Given the description of an element on the screen output the (x, y) to click on. 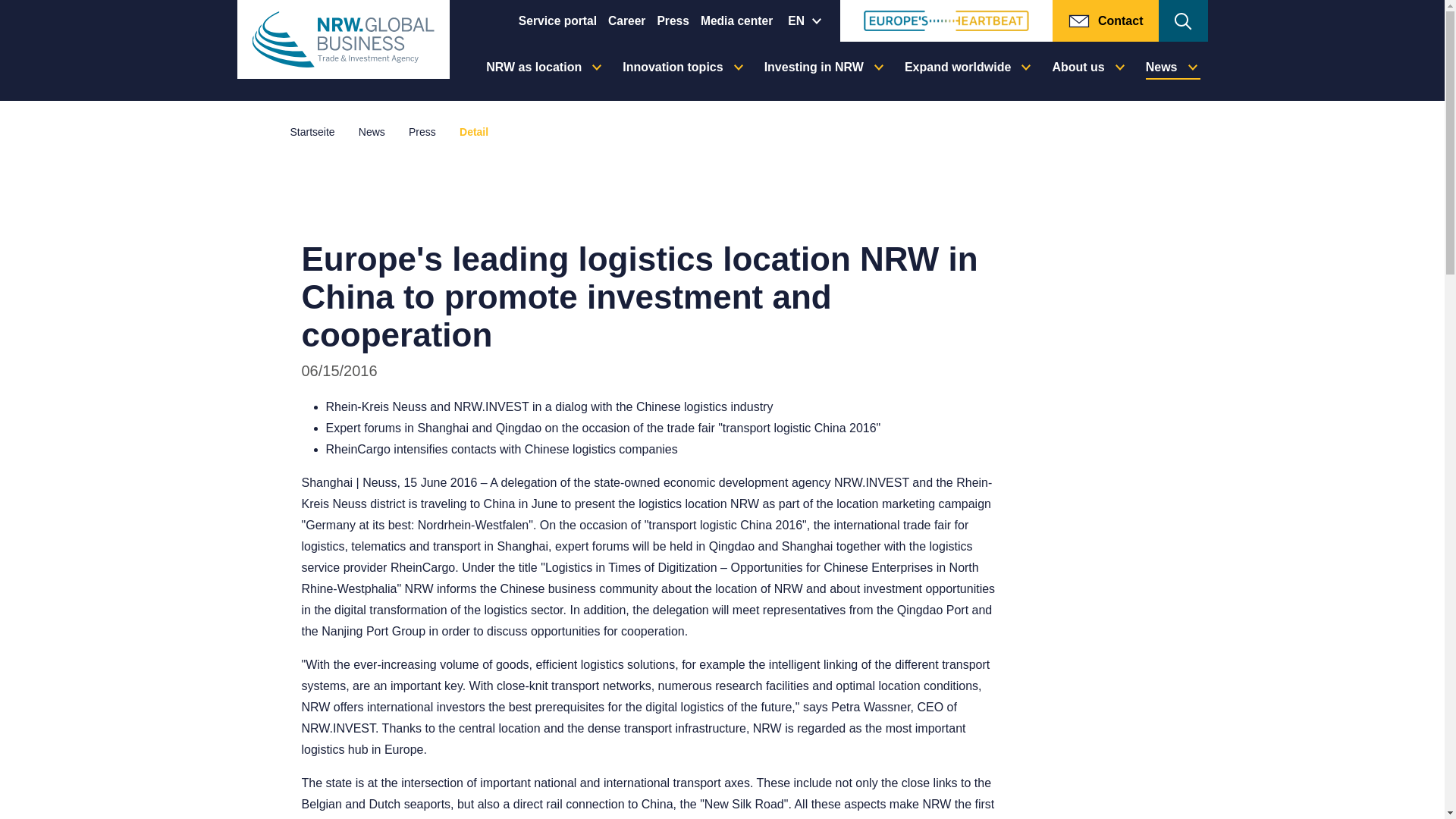
NRW as location (543, 70)
Media center (736, 20)
News (371, 132)
Career (626, 20)
Startseite (311, 132)
EN (806, 20)
Open Search (1183, 20)
Contact (1105, 20)
Investing in NRW (823, 70)
Service portal (557, 20)
